Given the description of an element on the screen output the (x, y) to click on. 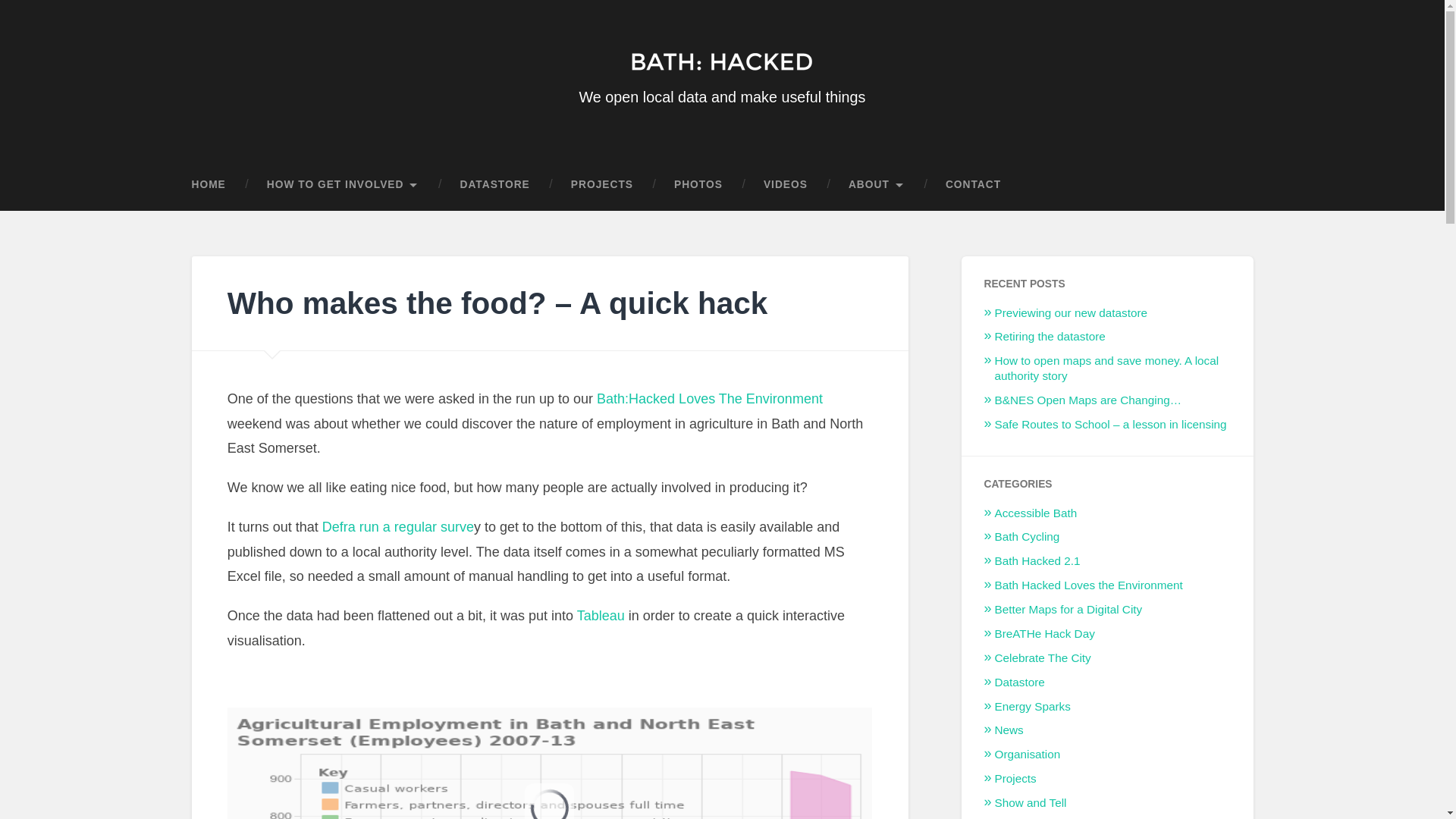
Defra run a regular surve (397, 526)
Bath:Hacked Loves The Environment (709, 398)
Previewing our new datastore (1071, 312)
PROJECTS (601, 184)
HOW TO GET INVOLVED (342, 184)
How to open maps and save money. A local authority story (1107, 367)
HOME (218, 184)
We open local data and make useful things (722, 79)
CONTACT (973, 184)
ABOUT (876, 184)
